Given the description of an element on the screen output the (x, y) to click on. 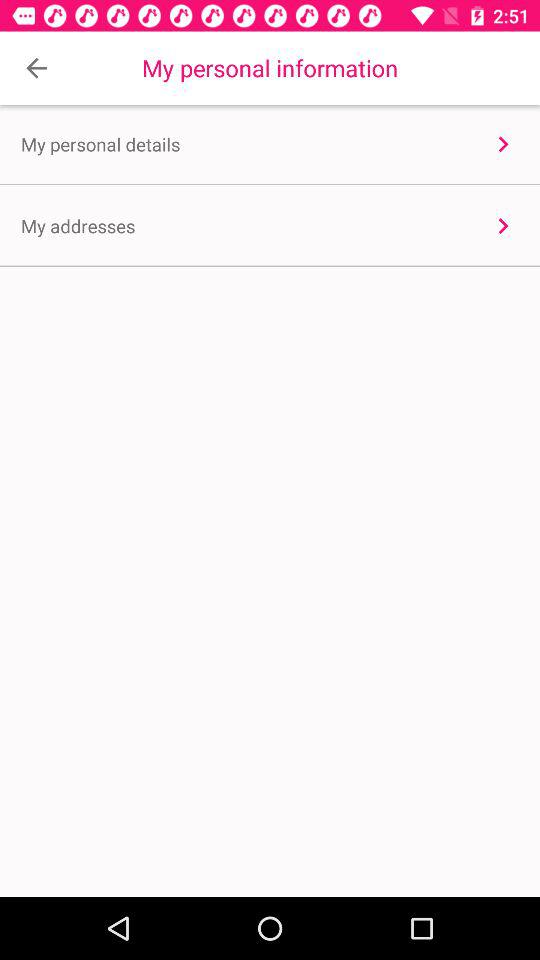
launch the icon above the my personal details icon (36, 68)
